Given the description of an element on the screen output the (x, y) to click on. 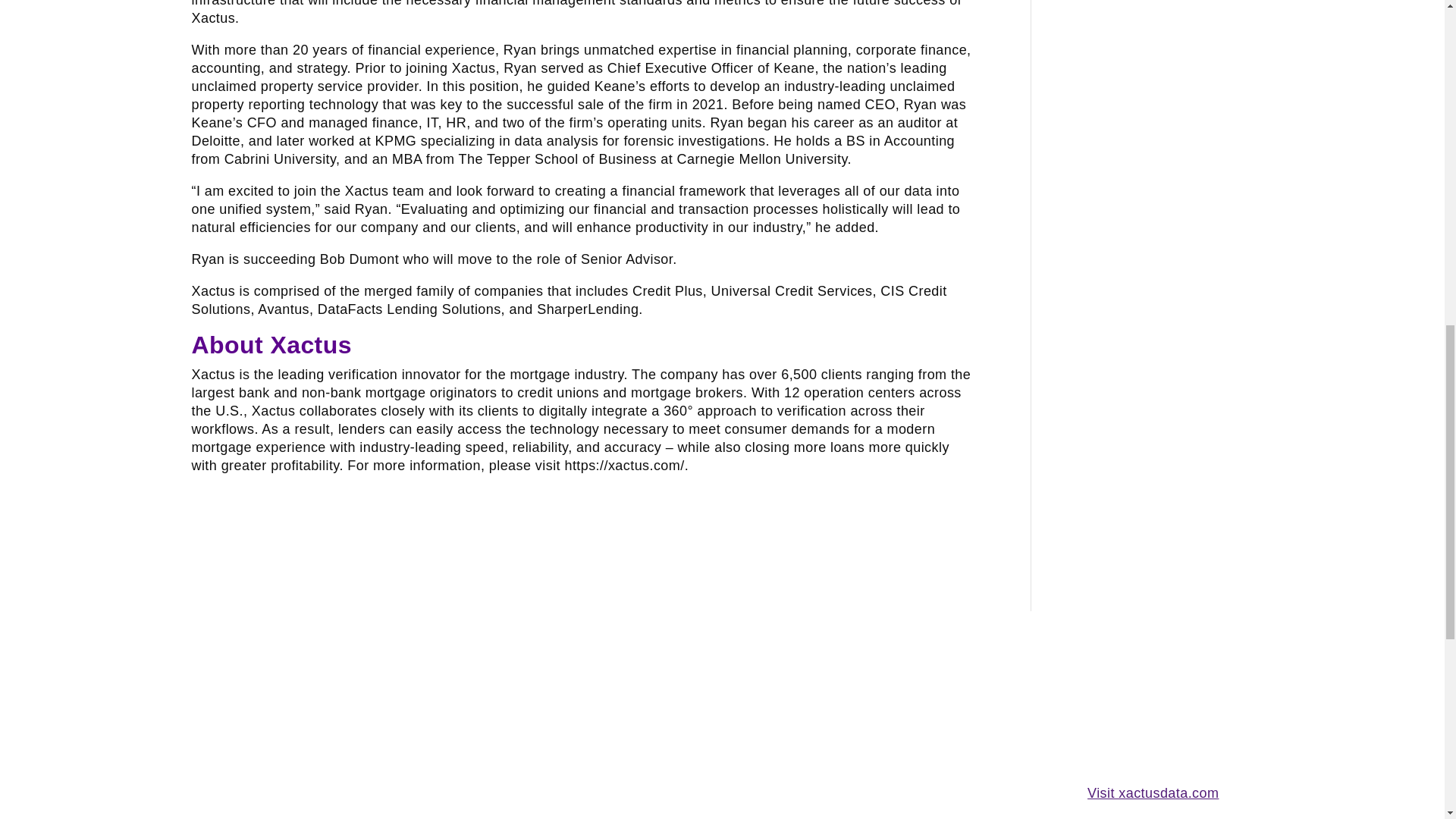
Follow on Instagram (324, 749)
Follow on X (263, 749)
Follow on Facebook (293, 749)
Follow on LinkedIn (202, 749)
Follow on Youtube (233, 749)
